Given the description of an element on the screen output the (x, y) to click on. 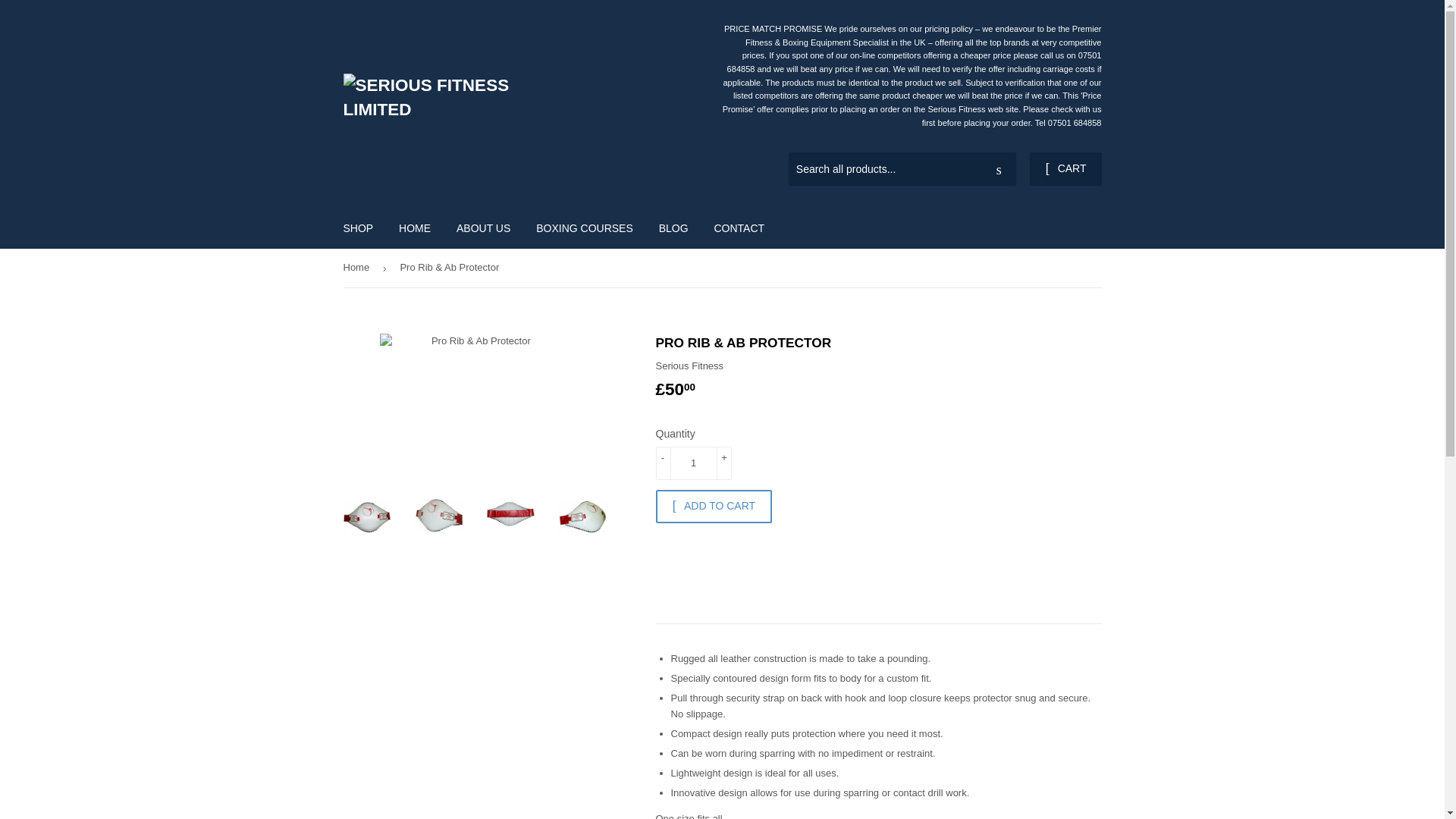
SHOP (358, 228)
ABOUT US (483, 228)
Search (998, 169)
BOXING COURSES (584, 228)
HOME (414, 228)
ADD TO CART (713, 506)
BLOG (673, 228)
CONTACT (738, 228)
1 (692, 462)
CART (1064, 168)
